Given the description of an element on the screen output the (x, y) to click on. 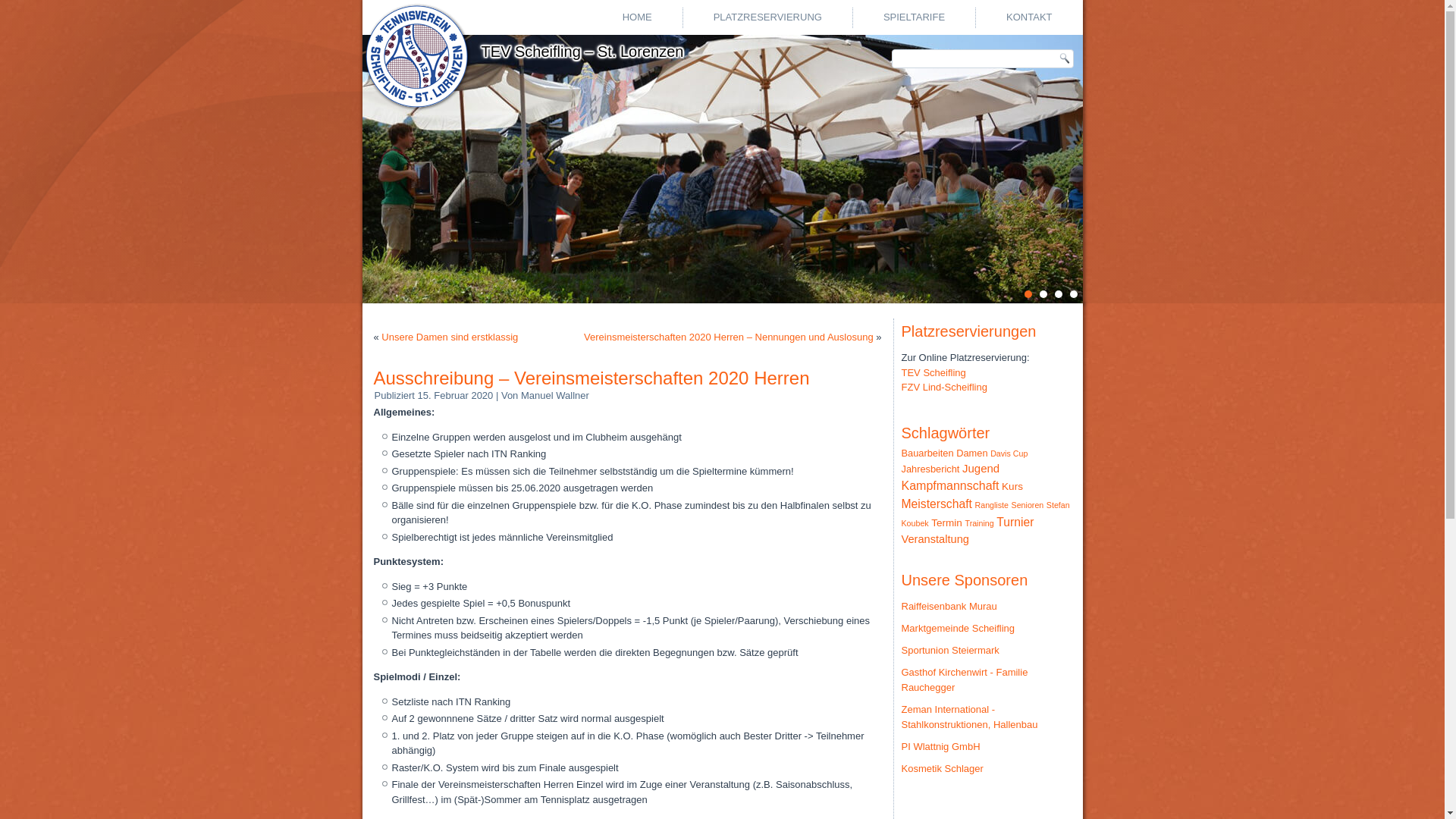
SPIELTARIFE Element type: text (914, 17)
Sportunion Steiermark Element type: text (949, 649)
Damen Element type: text (971, 452)
Rangliste Element type: text (991, 504)
Gasthof Kirchenwirt - Familie Rauchegger Element type: text (963, 679)
Jahresbericht Element type: text (929, 468)
Stefan Koubek Element type: text (984, 513)
Jugend Element type: text (980, 467)
Raiffeisenbank Murau Element type: text (948, 605)
Termin Element type: text (946, 522)
Zeman International - Stahlkonstruktionen, Hallenbau Element type: text (968, 716)
Senioren Element type: text (1027, 504)
Meisterschaft Element type: text (935, 503)
PI Wlattnig GmbH Element type: text (939, 746)
HOME Element type: text (637, 17)
KONTAKT Element type: text (1028, 17)
PLATZRESERVIERUNG Element type: text (767, 17)
Marktgemeinde Scheifling Element type: text (957, 627)
Davis Cup Element type: text (1008, 453)
Training Element type: text (979, 522)
Kosmetik Schlager Element type: text (941, 768)
FZV Lind-Scheifling Element type: text (943, 386)
Manuel Wallner Element type: text (554, 395)
Unsere Damen sind erstklassig Element type: text (449, 336)
Bauarbeiten Element type: text (926, 452)
TEV Scheifling Element type: text (932, 372)
Turnier Element type: text (1014, 521)
Kurs Element type: text (1011, 486)
Kampfmannschaft Element type: text (949, 485)
Veranstaltung Element type: text (934, 539)
